Given the description of an element on the screen output the (x, y) to click on. 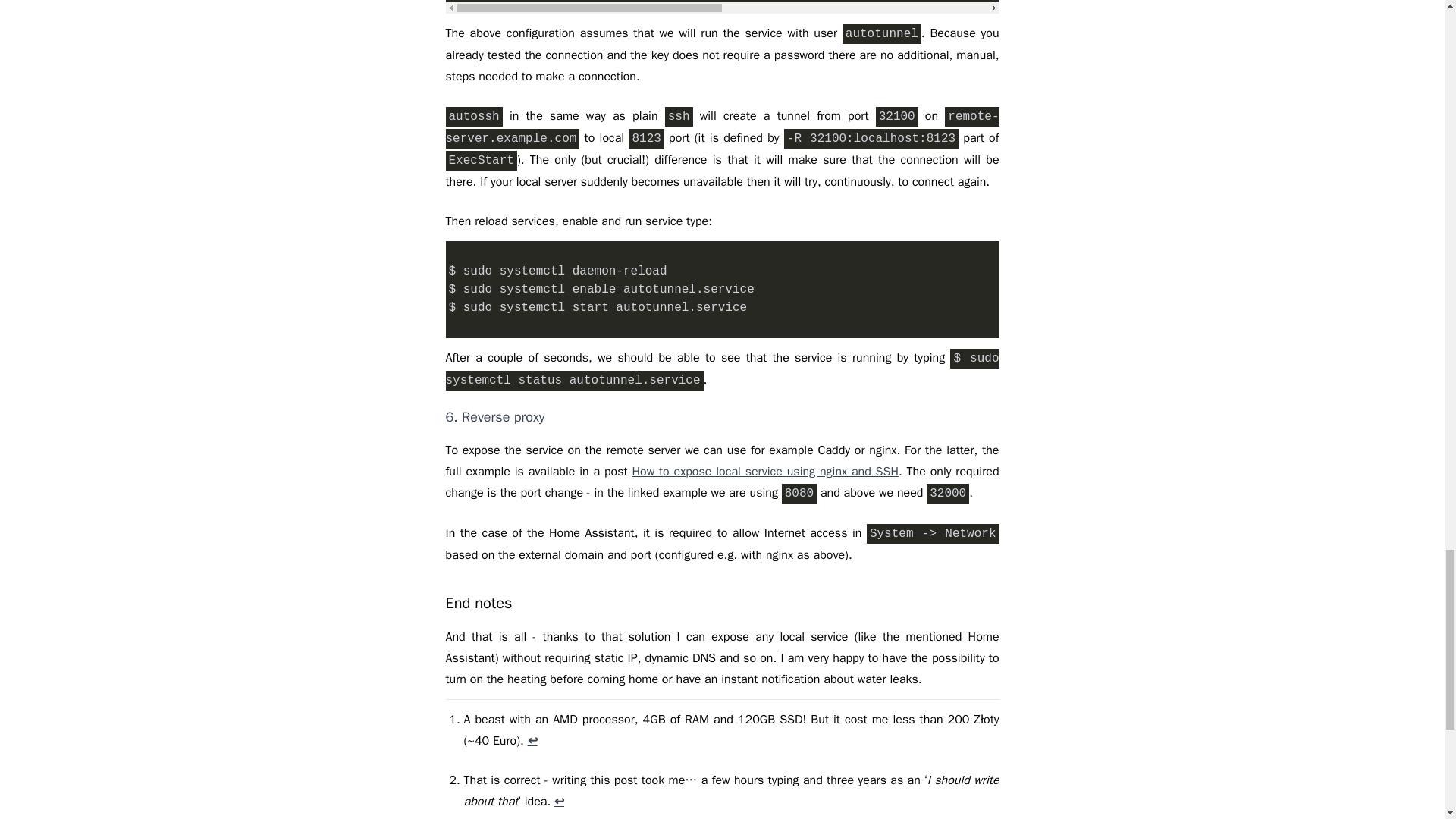
How to expose local service using nginx and SSH (764, 471)
